Given the description of an element on the screen output the (x, y) to click on. 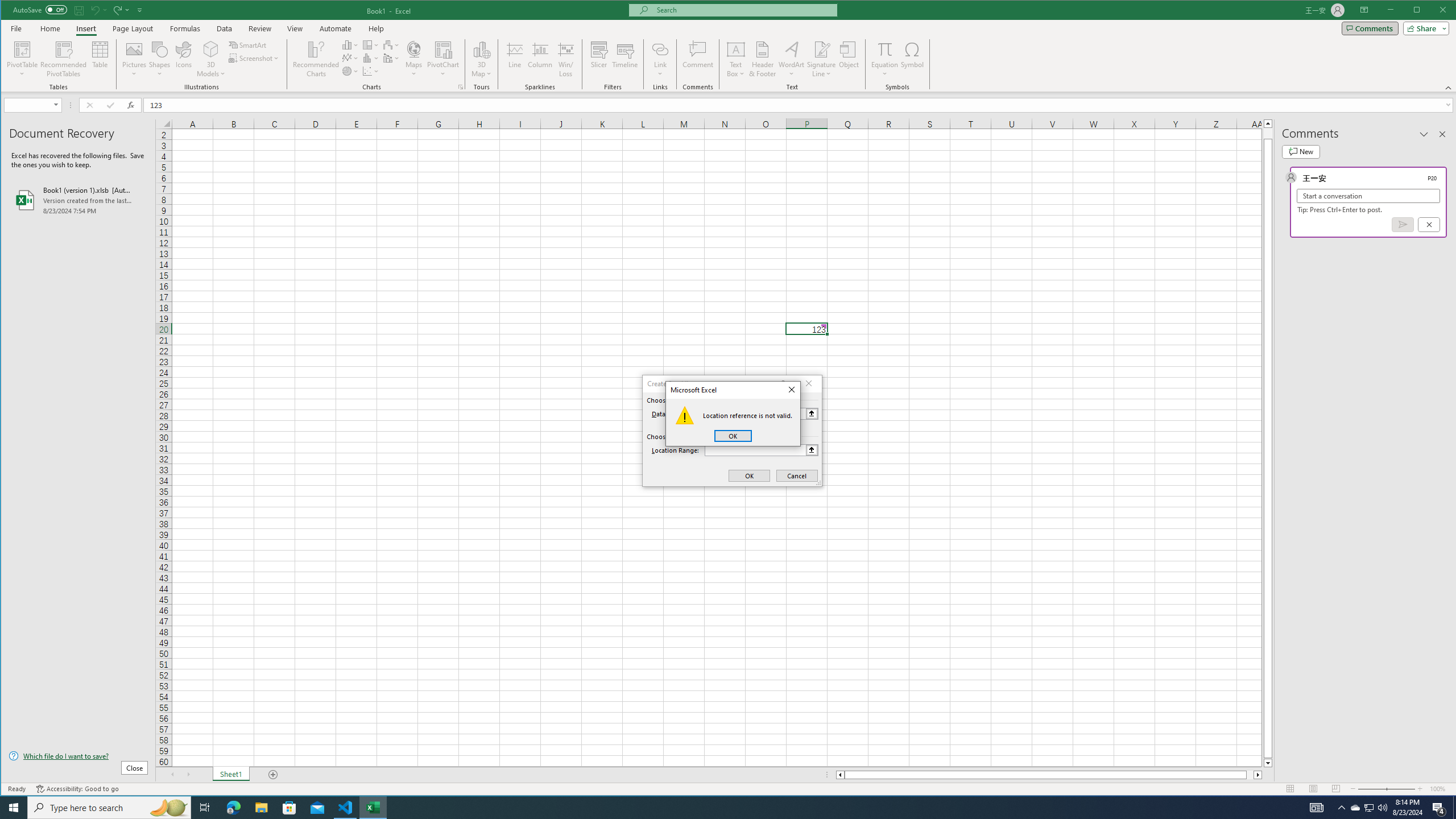
Action Center, 4 new notifications (1439, 807)
Class: Static (684, 415)
OK (732, 435)
